Given the description of an element on the screen output the (x, y) to click on. 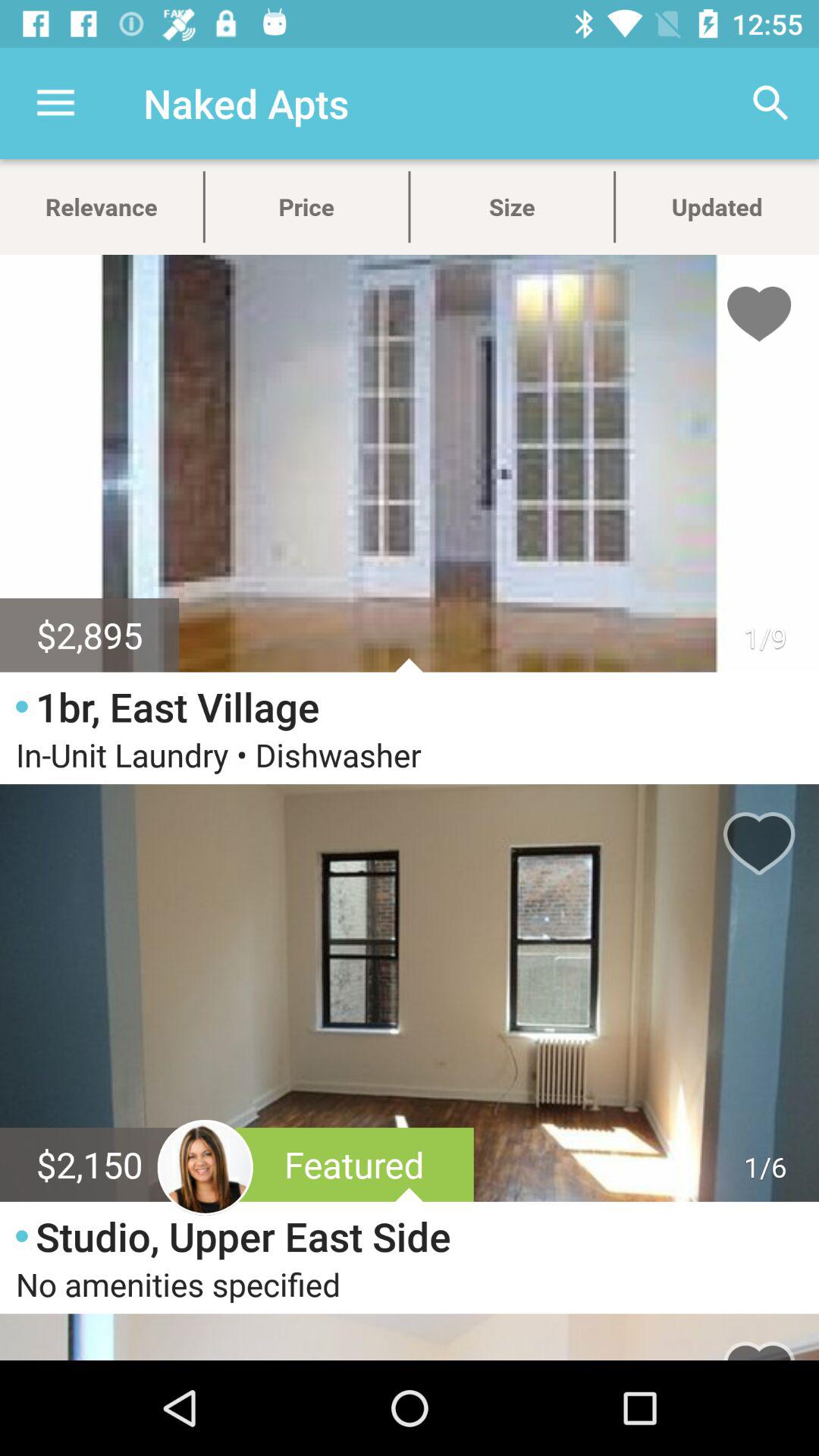
choose the item above updated icon (771, 103)
